Given the description of an element on the screen output the (x, y) to click on. 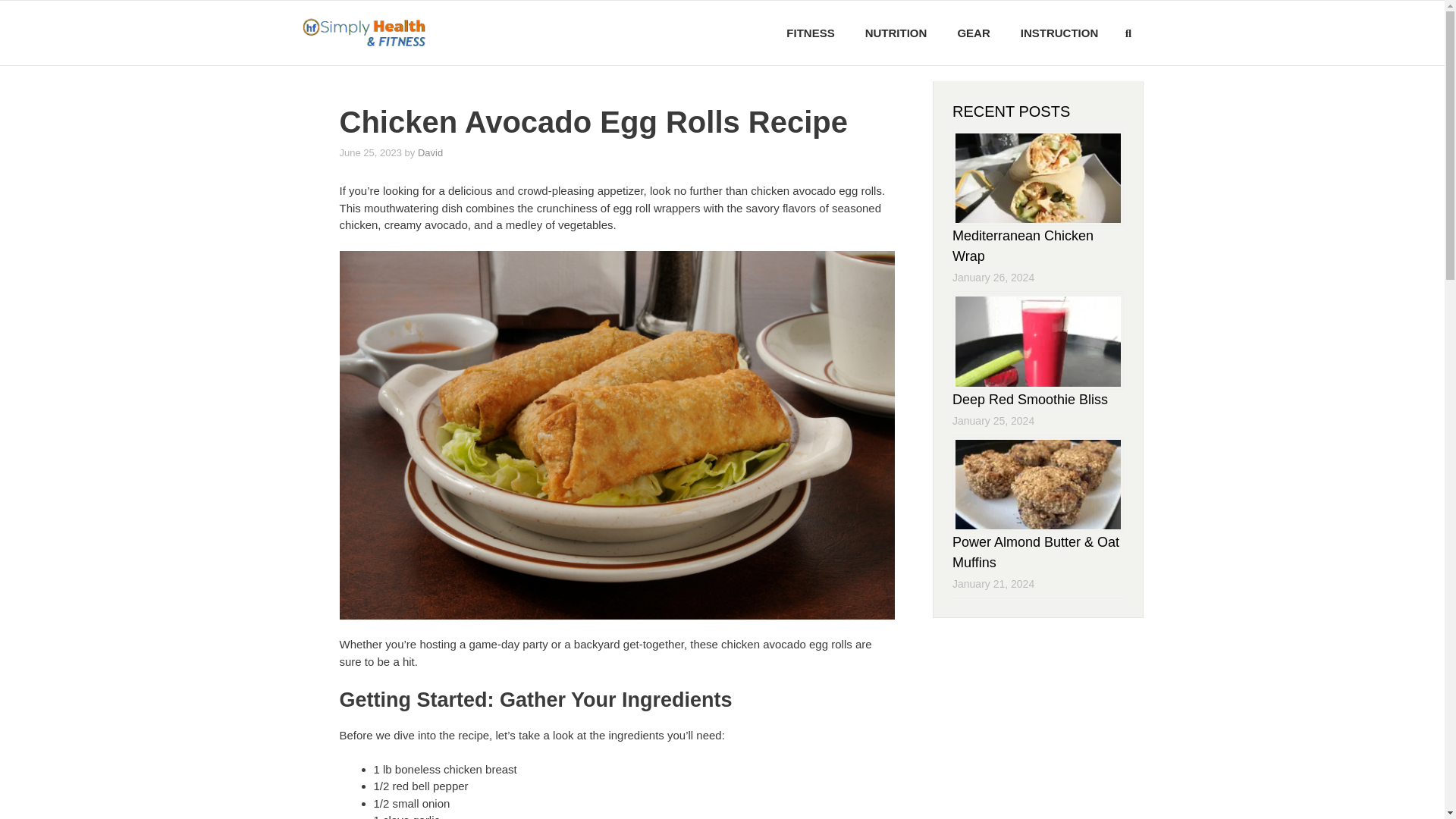
Deep Red Smoothie Bliss (1030, 399)
FITNESS (809, 32)
INSTRUCTION (1059, 32)
View all posts by David (429, 152)
GEAR (973, 32)
Mediterranean Chicken Wrap (1022, 245)
NUTRITION (896, 32)
David (429, 152)
